Given the description of an element on the screen output the (x, y) to click on. 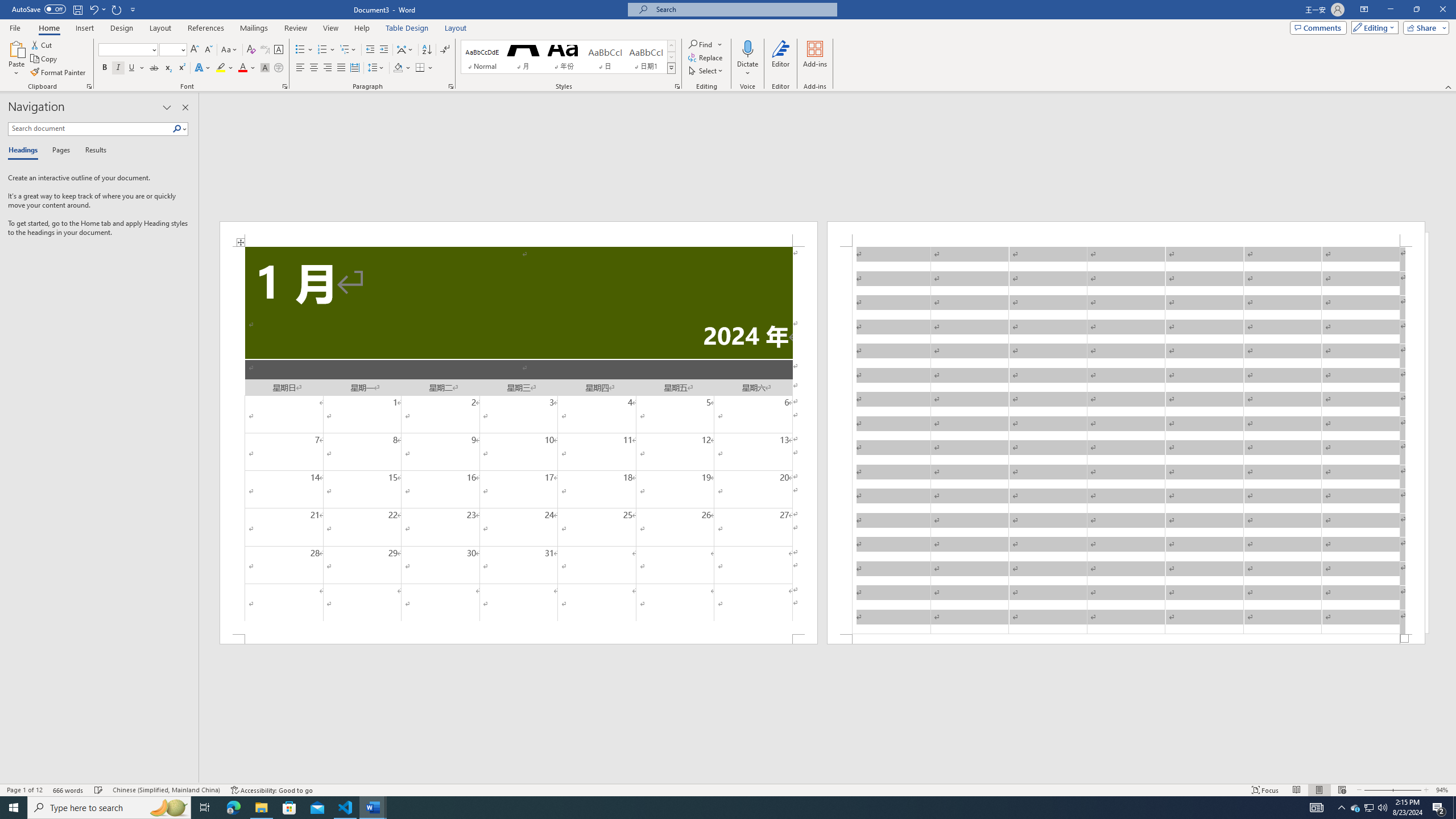
Microsoft search (742, 9)
AutomationID: QuickStylesGallery (568, 56)
Accessibility Checker Accessibility: Good to go (271, 790)
Office Clipboard... (88, 85)
Cut (42, 44)
Paragraph... (450, 85)
Bold (104, 67)
Spelling and Grammar Check Checking (98, 790)
Language Chinese (Simplified, Mainland China) (165, 790)
Copy (45, 58)
